Given the description of an element on the screen output the (x, y) to click on. 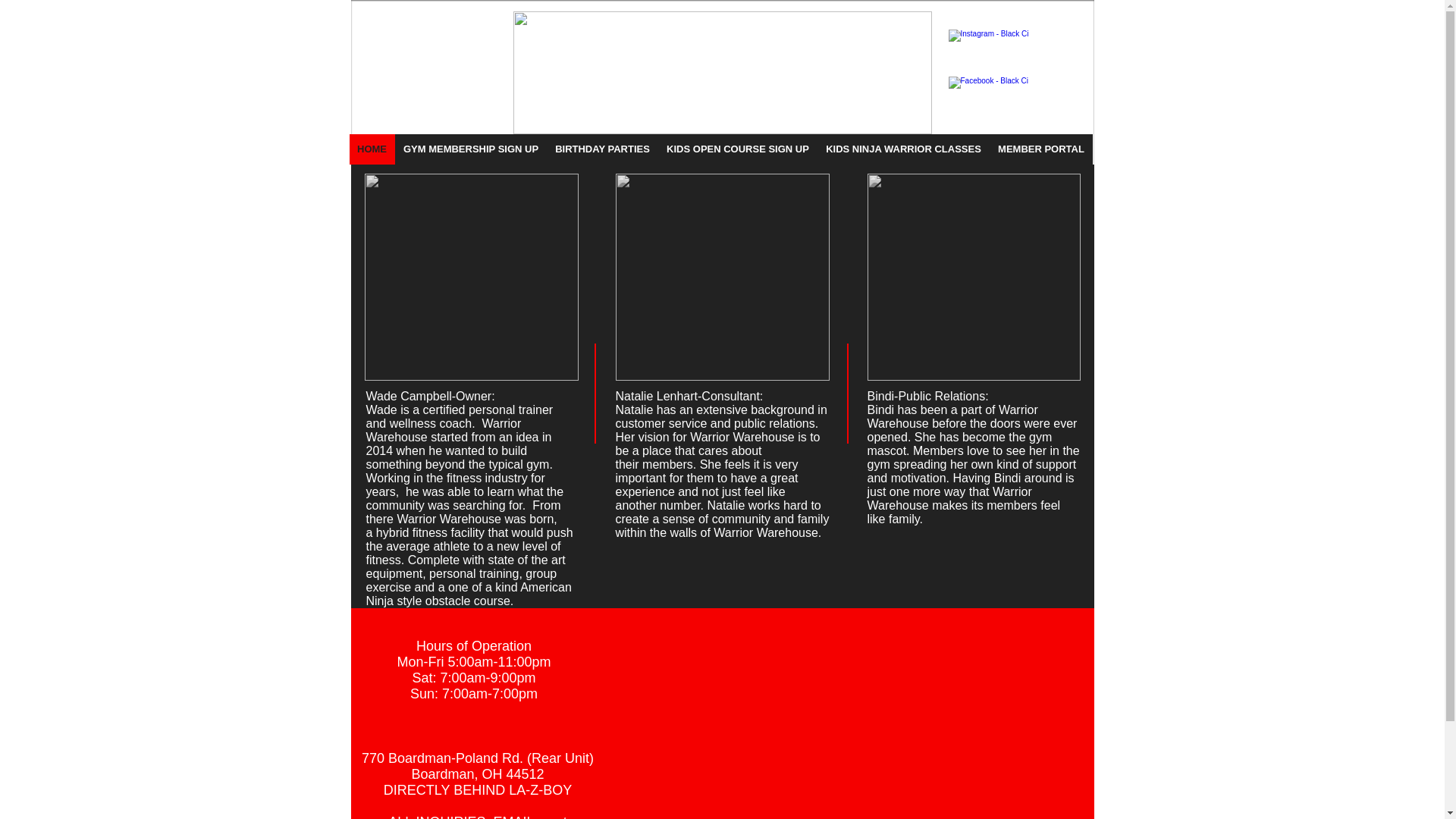
BIRTHDAY PARTIES (602, 149)
GYM MEMBERSHIP SIGN UP (470, 149)
KIDS OPEN COURSE SIGN UP (737, 149)
MEMBER PORTAL (1040, 149)
KIDS NINJA WARRIOR CLASSES (903, 149)
HOME (371, 149)
